Given the description of an element on the screen output the (x, y) to click on. 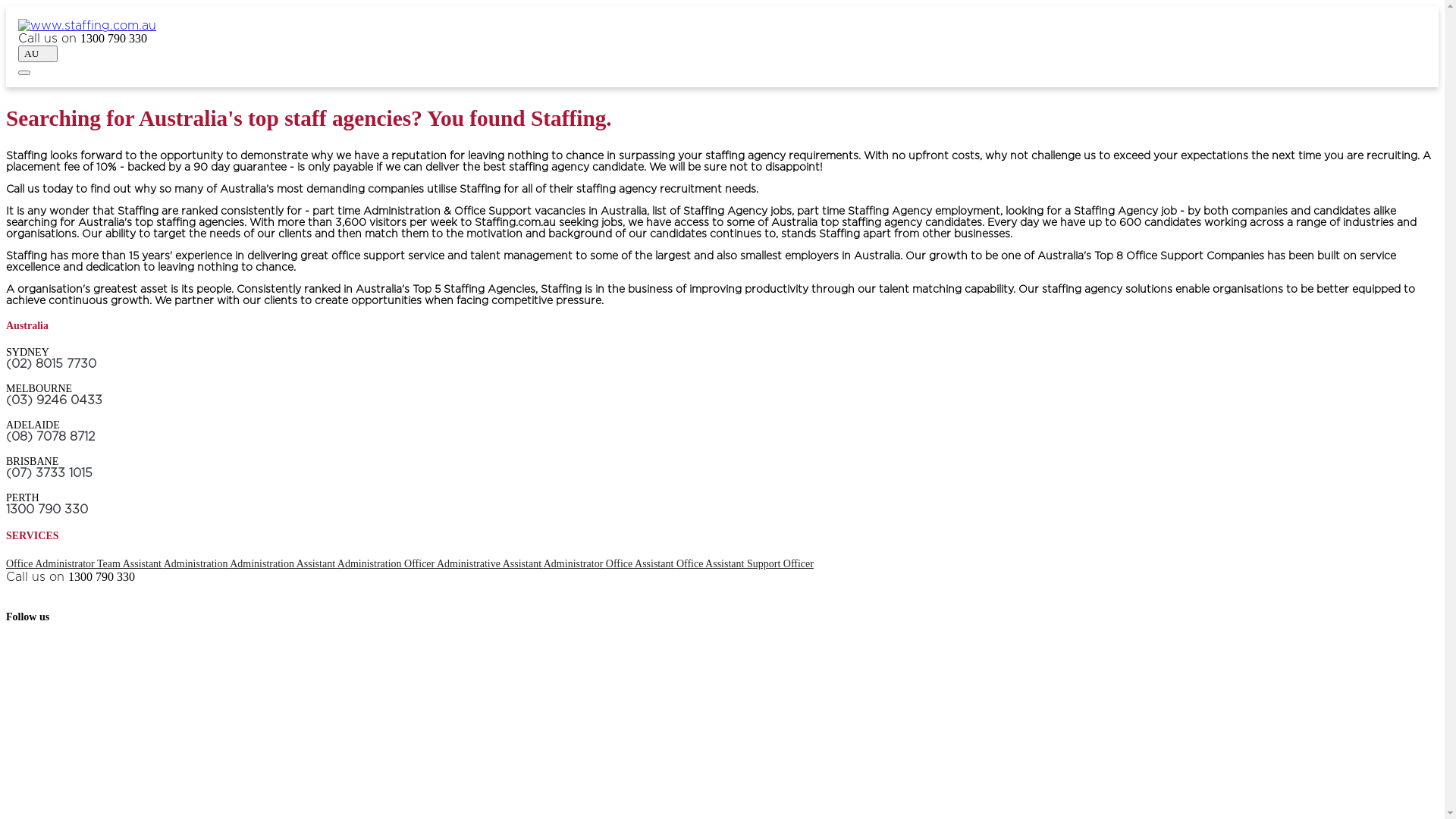
Team Assistant Element type: text (130, 563)
Office Administrator Element type: text (51, 563)
AU   Element type: text (37, 53)
Administration Assistant Element type: text (283, 563)
Support Officer Element type: text (779, 563)
Administration Officer Element type: text (386, 563)
Administrative Assistant Element type: text (489, 563)
Administrator Element type: text (574, 563)
Office Assistant Element type: text (711, 563)
Administration Element type: text (196, 563)
Office Assistant Element type: text (640, 563)
